Given the description of an element on the screen output the (x, y) to click on. 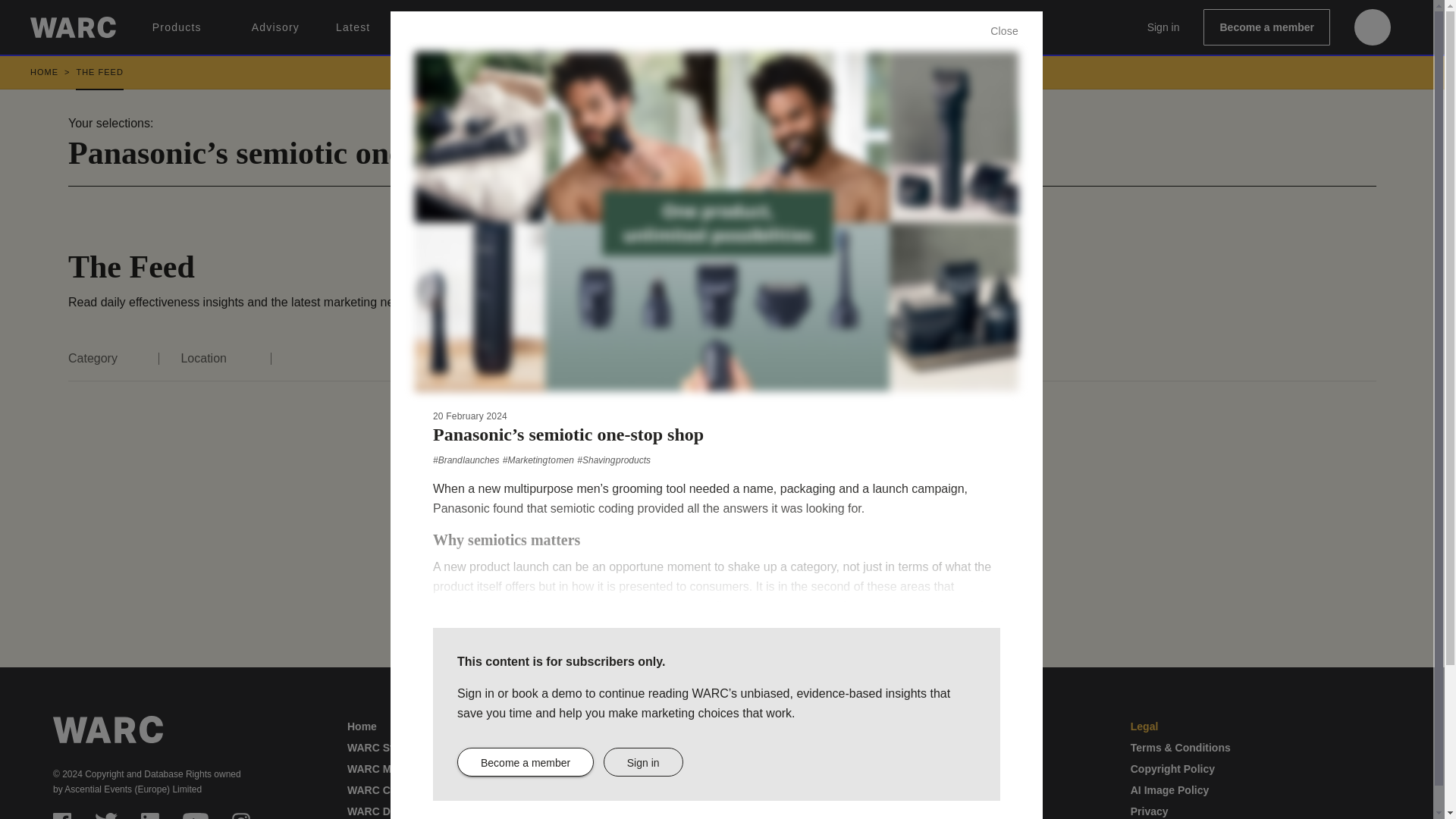
Cannes Lions 2024 (537, 27)
Products (183, 27)
About (643, 27)
Awards (426, 27)
Latest (352, 27)
Advisory (275, 27)
Sign in (1163, 27)
Become a member (1267, 27)
HOME (52, 72)
